Given the description of an element on the screen output the (x, y) to click on. 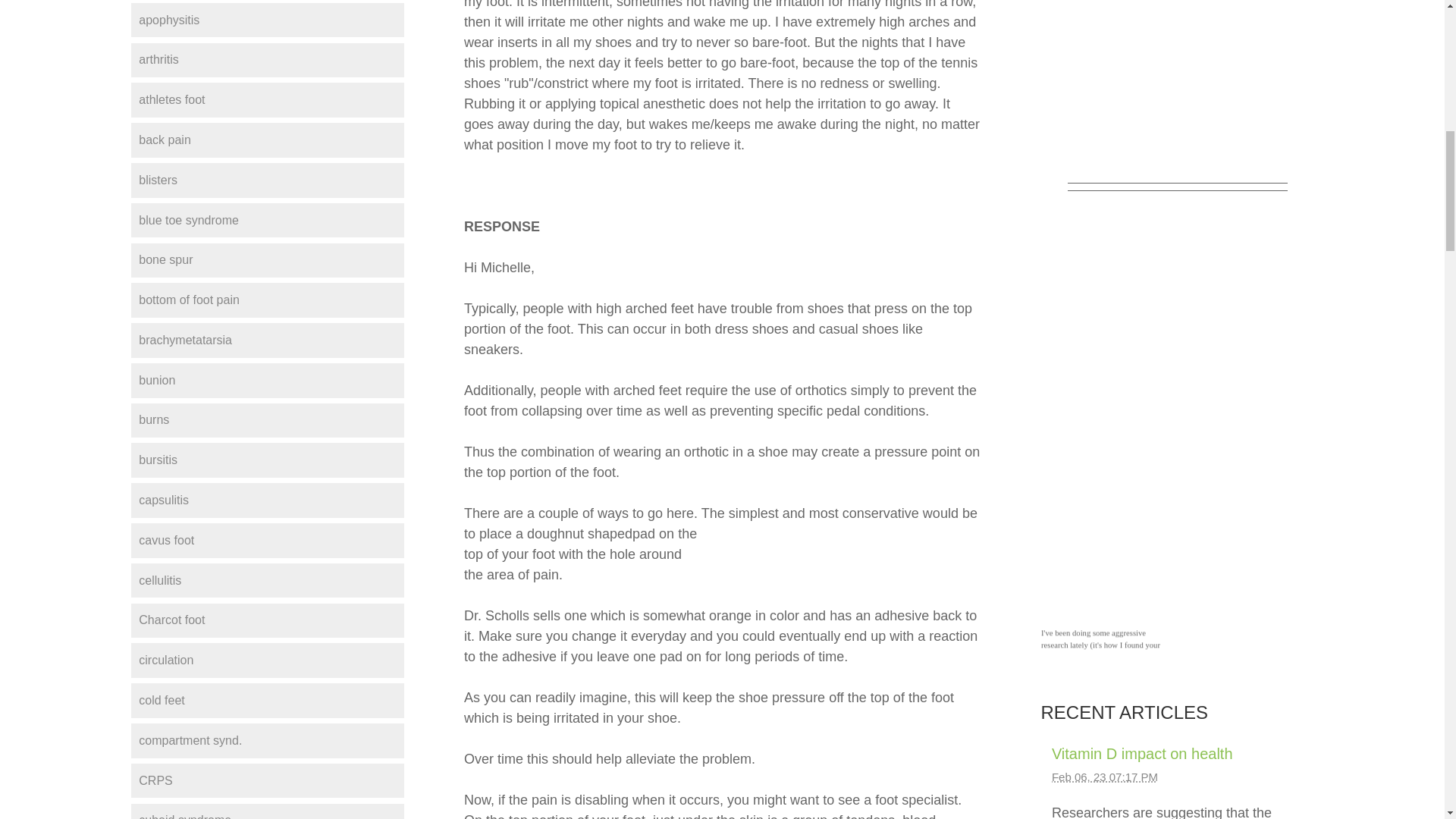
2023-02-06T19:17:37-0500 (1104, 776)
